Given the description of an element on the screen output the (x, y) to click on. 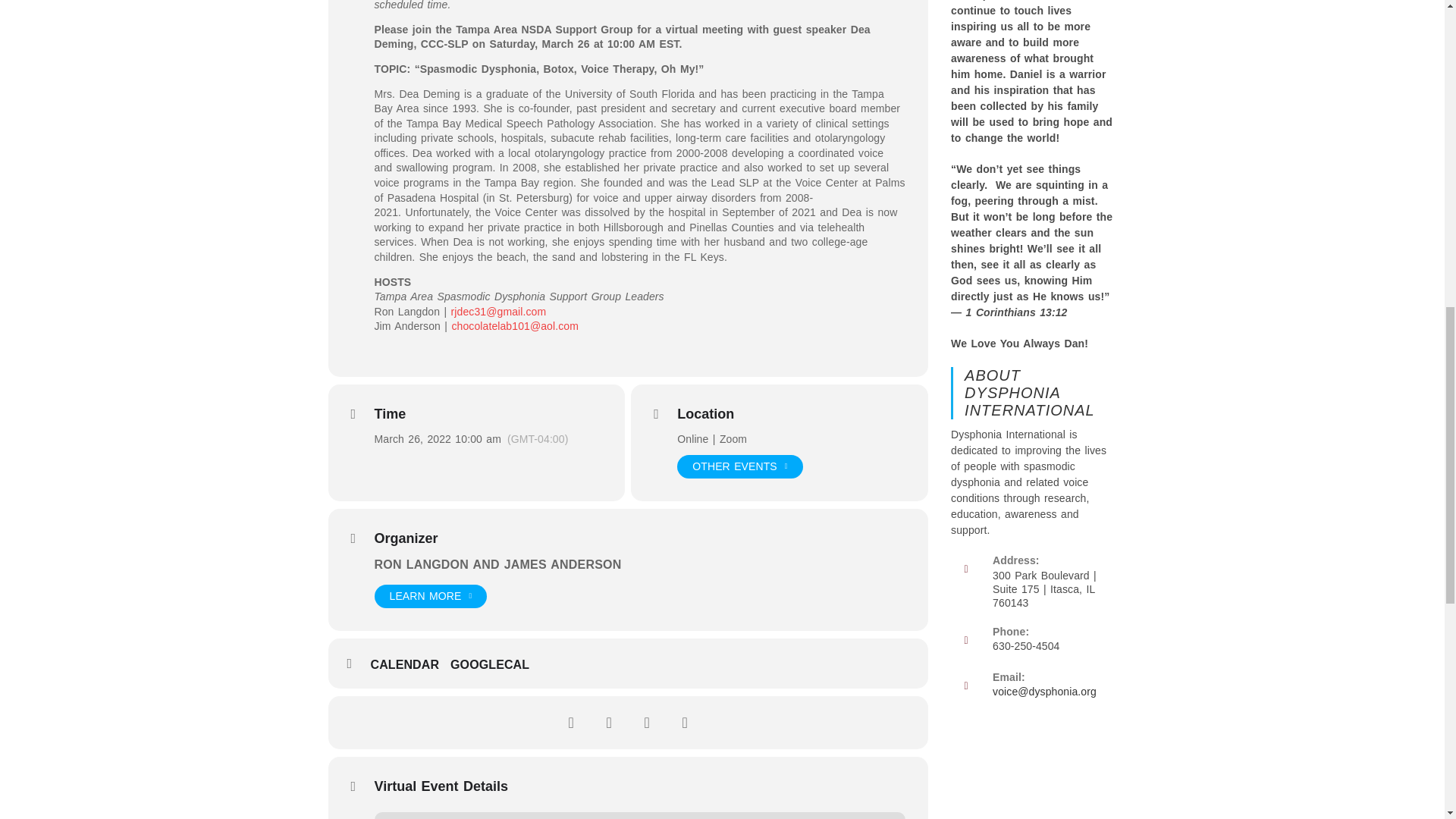
Share on Twitter (608, 722)
Add to google calendar (494, 664)
Share on Linkedin (646, 722)
Share on facebook (570, 722)
Add to your calendar (409, 664)
